Given the description of an element on the screen output the (x, y) to click on. 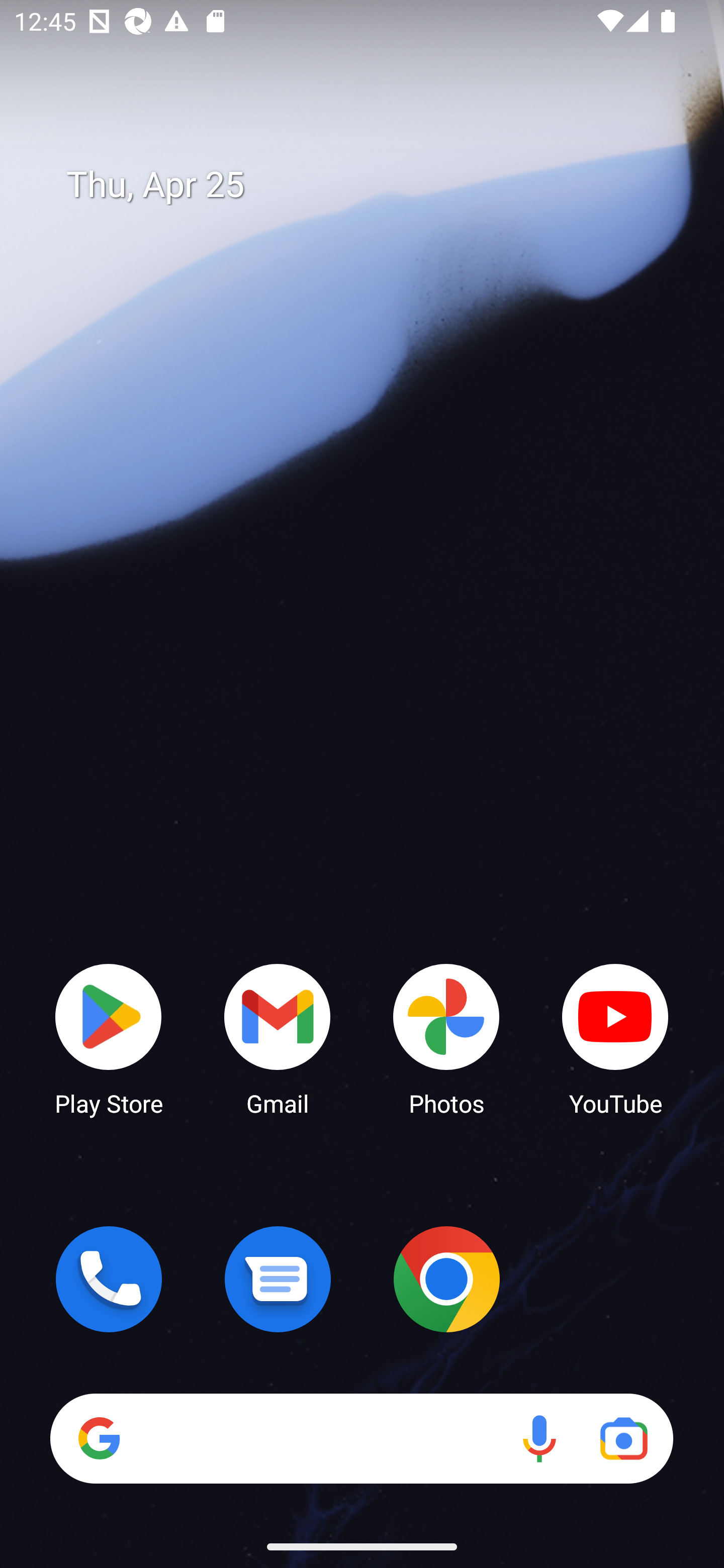
Thu, Apr 25 (375, 184)
Play Store (108, 1038)
Gmail (277, 1038)
Photos (445, 1038)
YouTube (615, 1038)
Phone (108, 1279)
Messages (277, 1279)
Chrome (446, 1279)
Search Voice search Google Lens (361, 1438)
Voice search (539, 1438)
Google Lens (623, 1438)
